Given the description of an element on the screen output the (x, y) to click on. 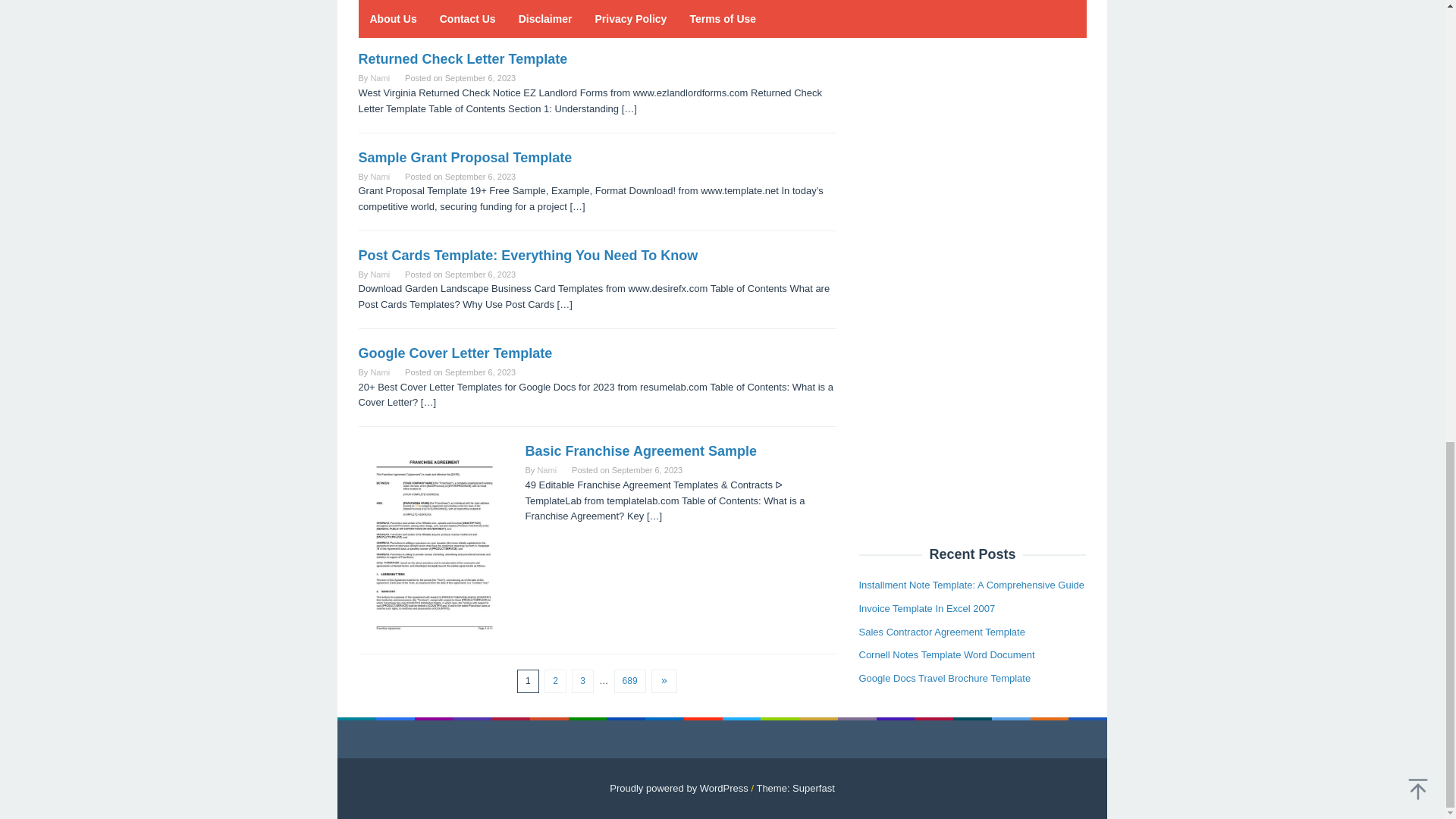
Sales Contractor Agreement Template (942, 301)
Invoice Template In Excel 2007 (926, 278)
Basic Franchise Agreement Sample (639, 450)
Installment Note Template: A Comprehensive Guide (971, 255)
689 (630, 680)
Nami (379, 175)
Nami (379, 77)
Permalink to: Returned Check Letter Template (462, 58)
Google Cover Letter Template (454, 353)
Sample Grant Proposal Template (465, 157)
Nami (546, 470)
Post Cards Template: Everything You Need To Know (527, 255)
Nami (379, 371)
Permalink to: Nami (379, 77)
Nami (379, 274)
